Given the description of an element on the screen output the (x, y) to click on. 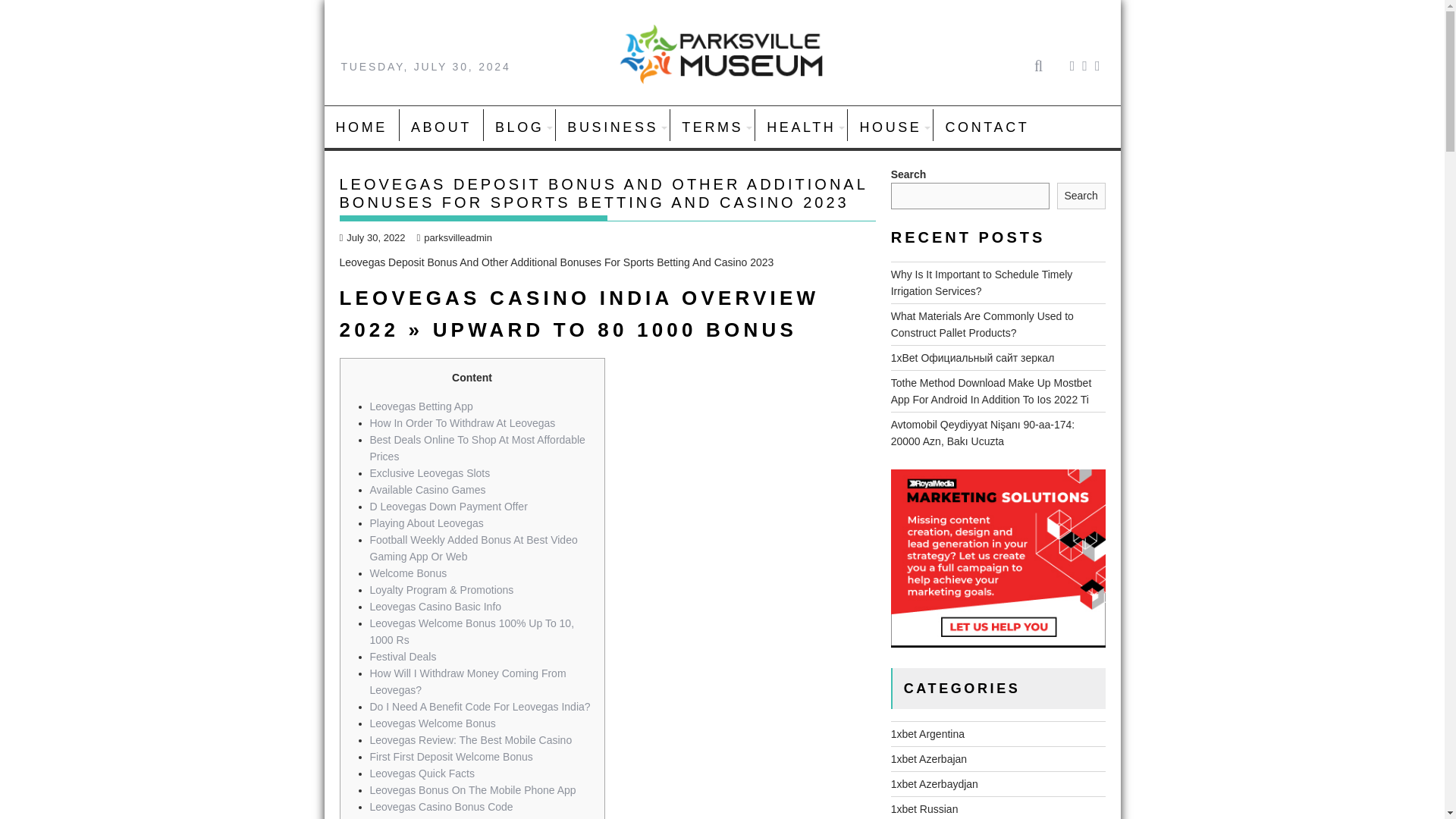
Leovegas Betting App (421, 406)
Available Casino Games (427, 490)
Football Weekly Added Bonus At Best Video Gaming App Or Web (473, 547)
Best Deals Online To Shop At Most Affordable Prices (477, 448)
HEALTH (801, 126)
BLOG (518, 126)
Welcome Bonus (407, 573)
CONTACT (987, 126)
ABOUT (440, 126)
parksvilleadmin (454, 237)
How In Order To Withdraw At Leovegas (462, 422)
Leovegas Casino Basic Info (435, 606)
BUSINESS (612, 126)
D Leovegas Down Payment Offer (448, 506)
TERMS (711, 126)
